Given the description of an element on the screen output the (x, y) to click on. 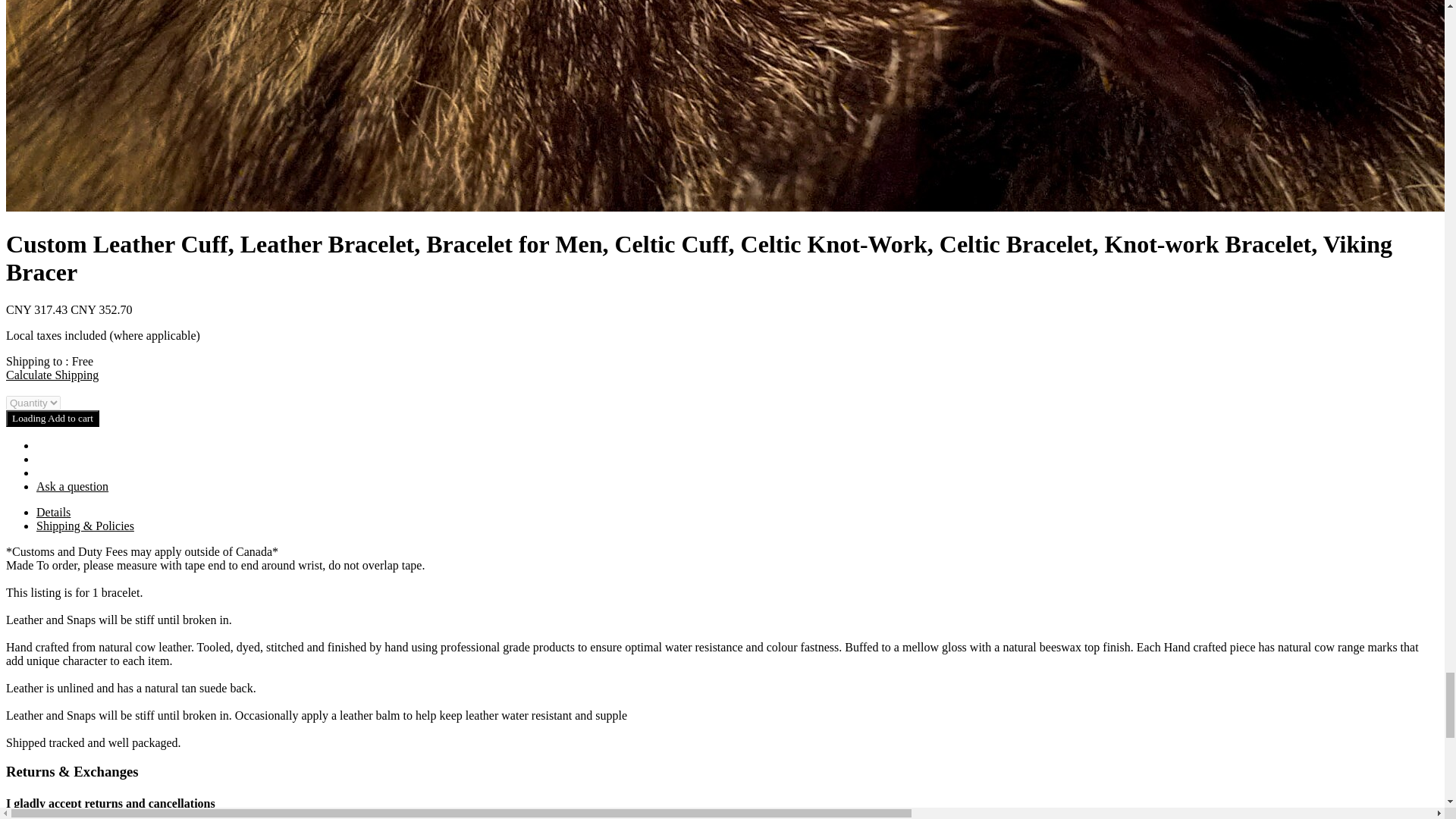
Ask a question (71, 486)
Details (52, 512)
Calculate Shipping (52, 374)
Loading Add to cart (52, 418)
